Given the description of an element on the screen output the (x, y) to click on. 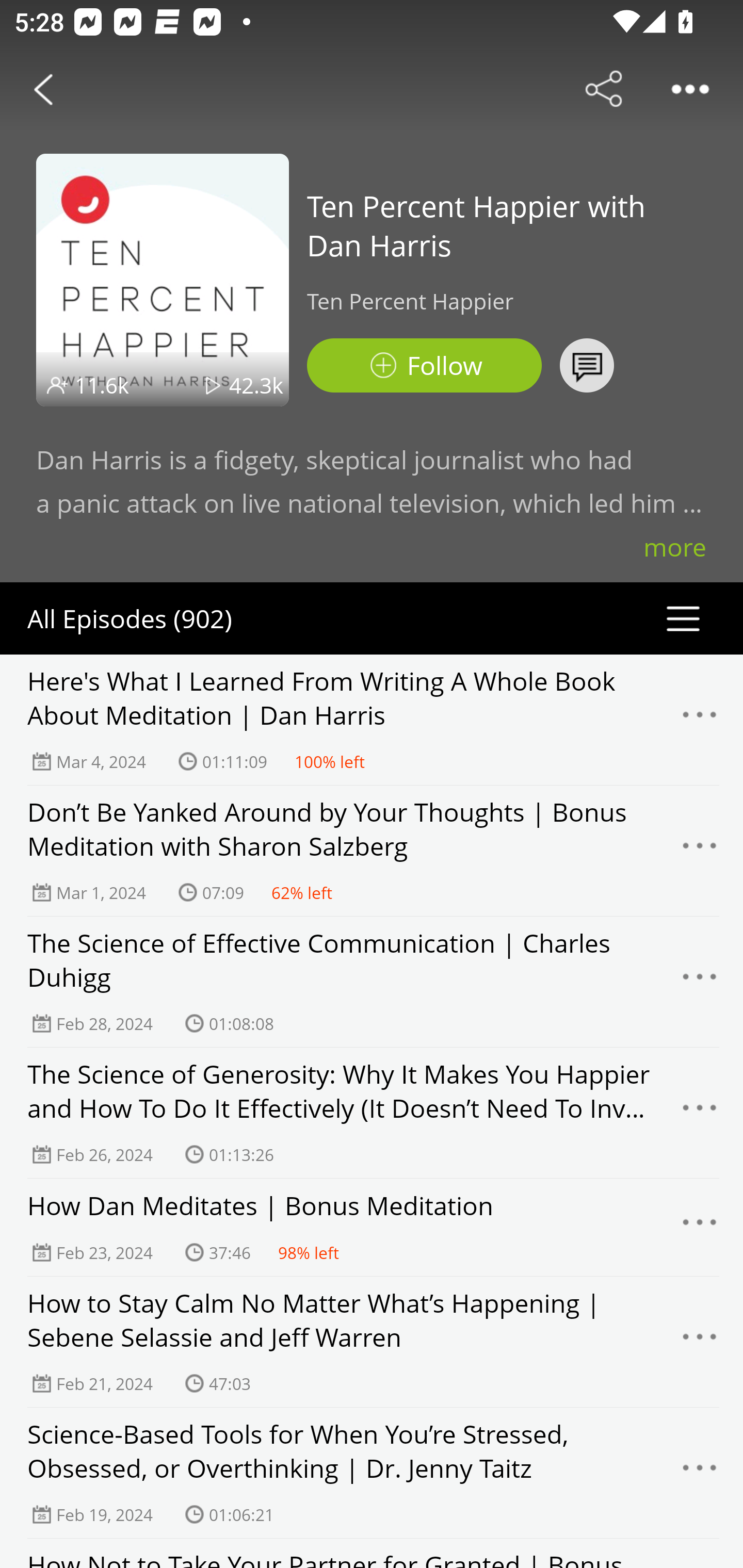
Back (43, 88)
Podbean Follow (423, 365)
11.6k (102, 384)
more (674, 546)
Menu (699, 720)
Menu (699, 850)
Menu (699, 982)
Menu (699, 1113)
Menu (699, 1227)
Menu (699, 1342)
Menu (699, 1473)
